Given the description of an element on the screen output the (x, y) to click on. 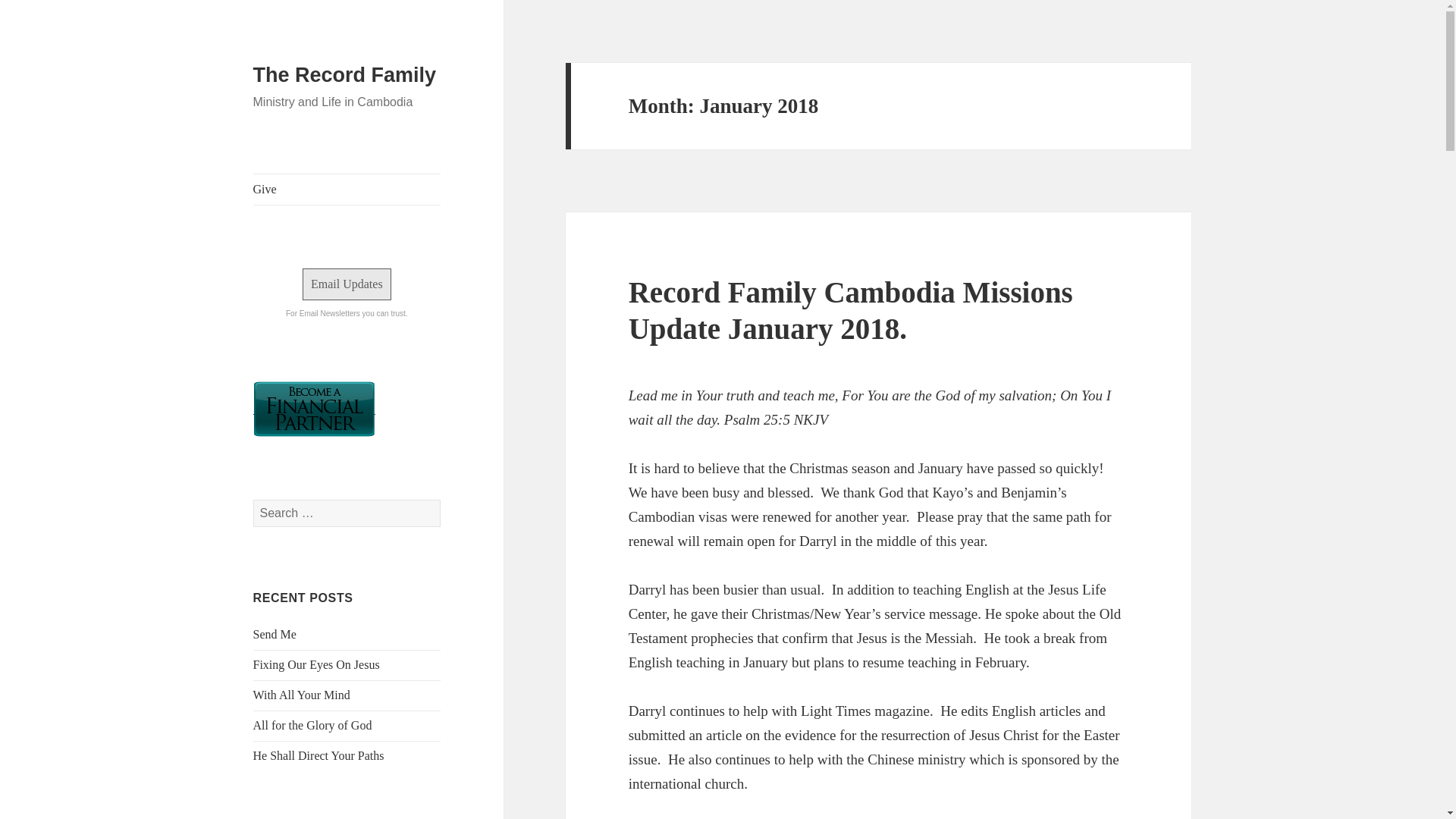
Email Updates (346, 284)
With All Your Mind (301, 694)
Send Me (275, 634)
The Record Family (344, 74)
All for the Glory of God (312, 725)
He Shall Direct Your Paths (318, 755)
Give (347, 189)
Fixing Our Eyes On Jesus (316, 664)
